Given the description of an element on the screen output the (x, y) to click on. 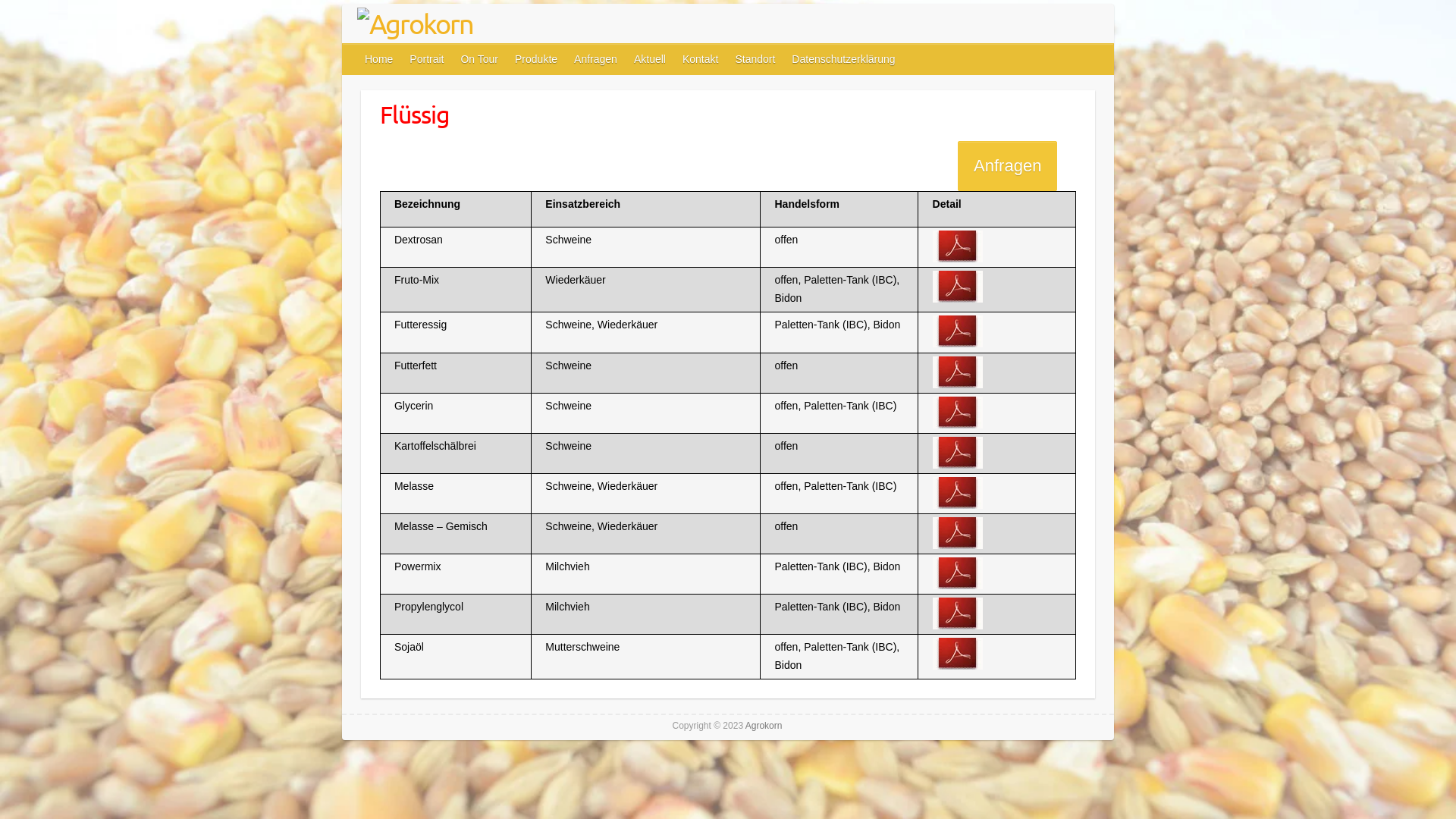
Home Element type: text (379, 58)
Portrait Element type: text (426, 58)
Produkte Element type: text (536, 58)
Agrokorn Element type: text (763, 725)
Aktuell Element type: text (650, 58)
On Tour Element type: text (479, 58)
Kontakt Element type: text (700, 58)
Agrokorn Element type: hover (415, 23)
Anfragen Element type: text (596, 58)
Standort Element type: text (755, 58)
Anfragen Element type: text (1007, 166)
